Given the description of an element on the screen output the (x, y) to click on. 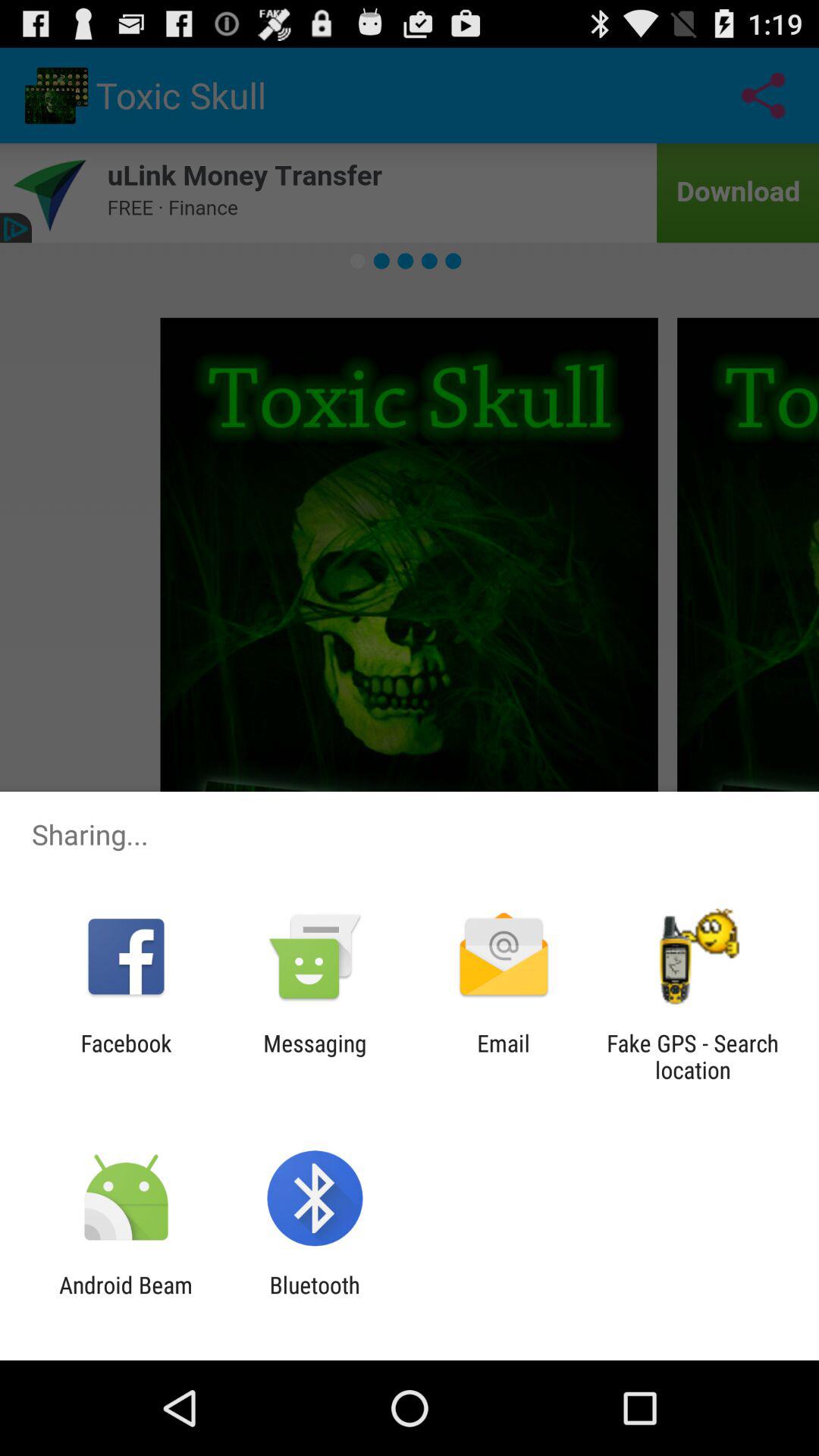
select the item next to the android beam app (314, 1298)
